Given the description of an element on the screen output the (x, y) to click on. 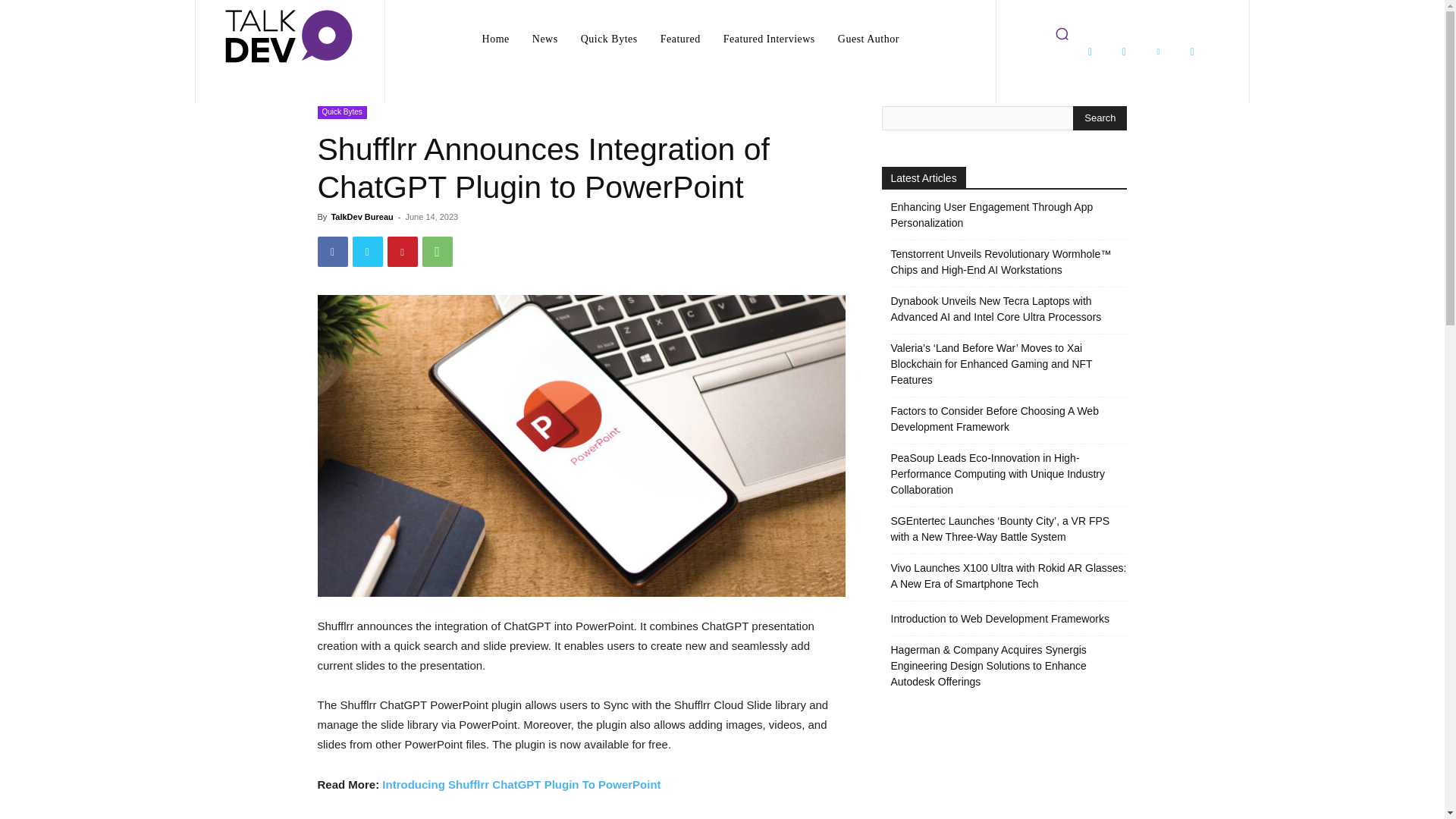
Quick Bytes (609, 39)
Search (1099, 118)
Featured (679, 39)
